Given the description of an element on the screen output the (x, y) to click on. 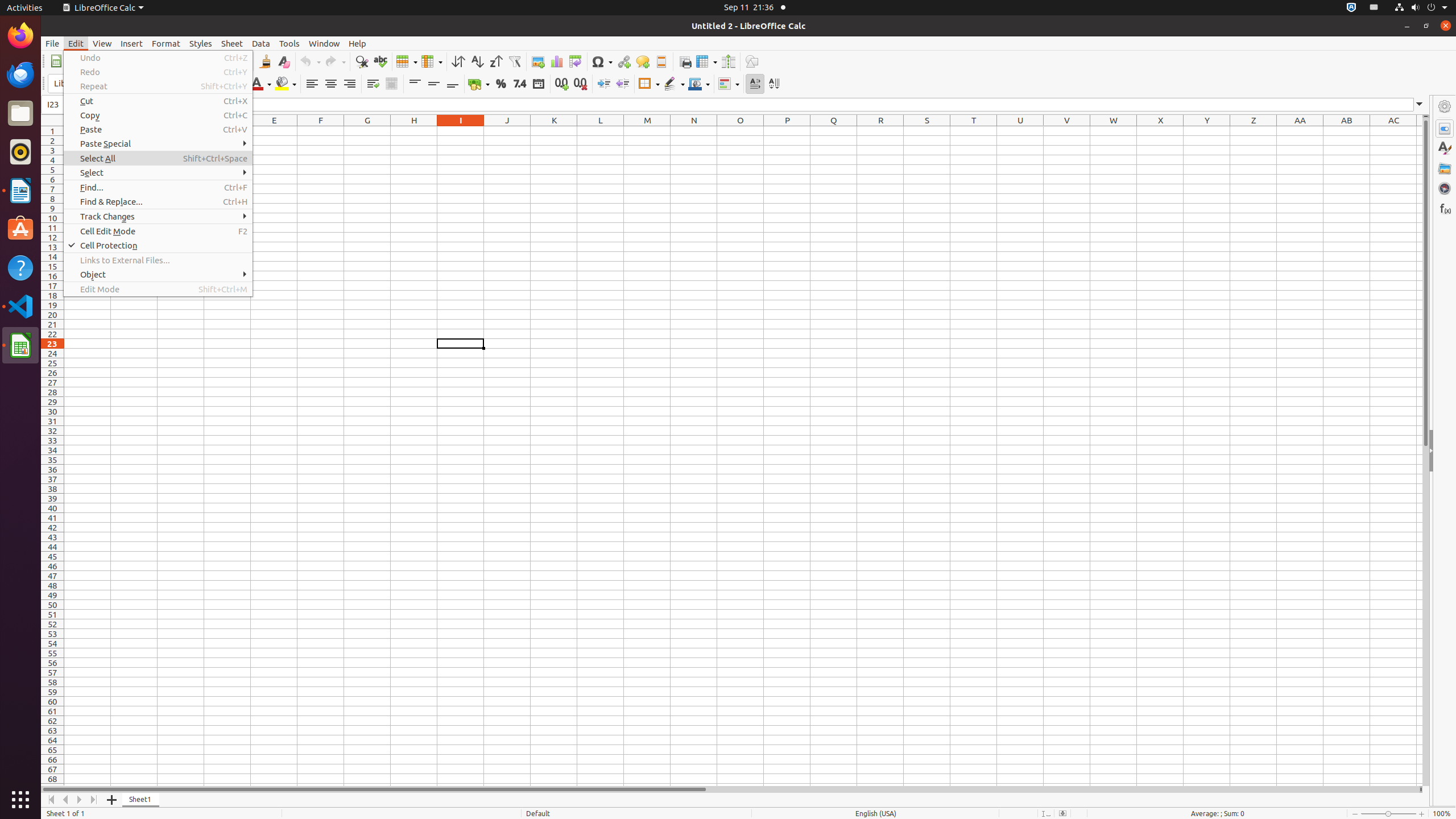
Copy Element type: menu-item (157, 115)
Text direction from top to bottom Element type: toggle-button (773, 83)
LibreOffice Calc Element type: push-button (20, 344)
Column Element type: push-button (431, 61)
